Given the description of an element on the screen output the (x, y) to click on. 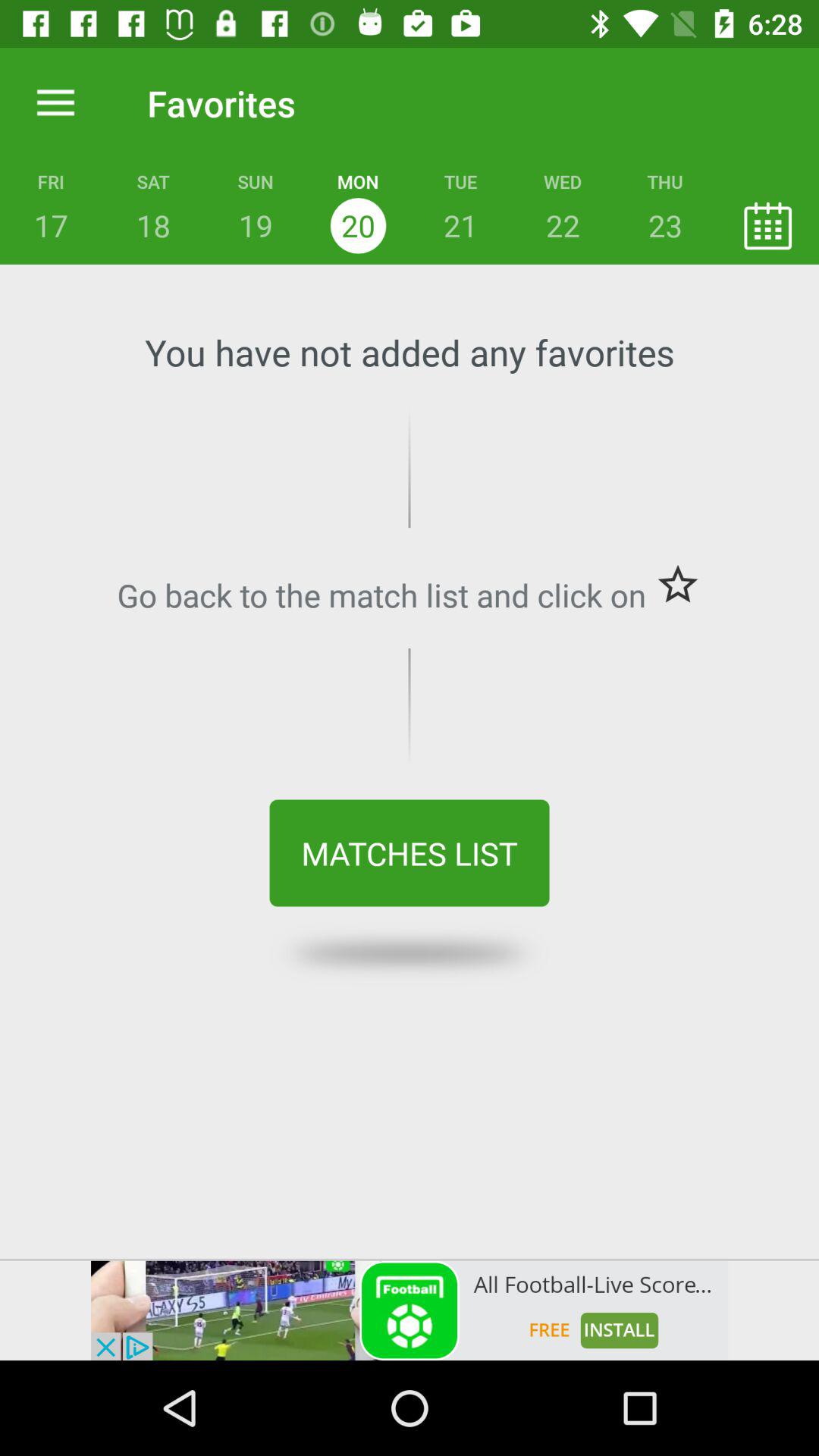
go to matches list (409, 853)
click the button on calendar which is right side of 23 (767, 225)
